Given the description of an element on the screen output the (x, y) to click on. 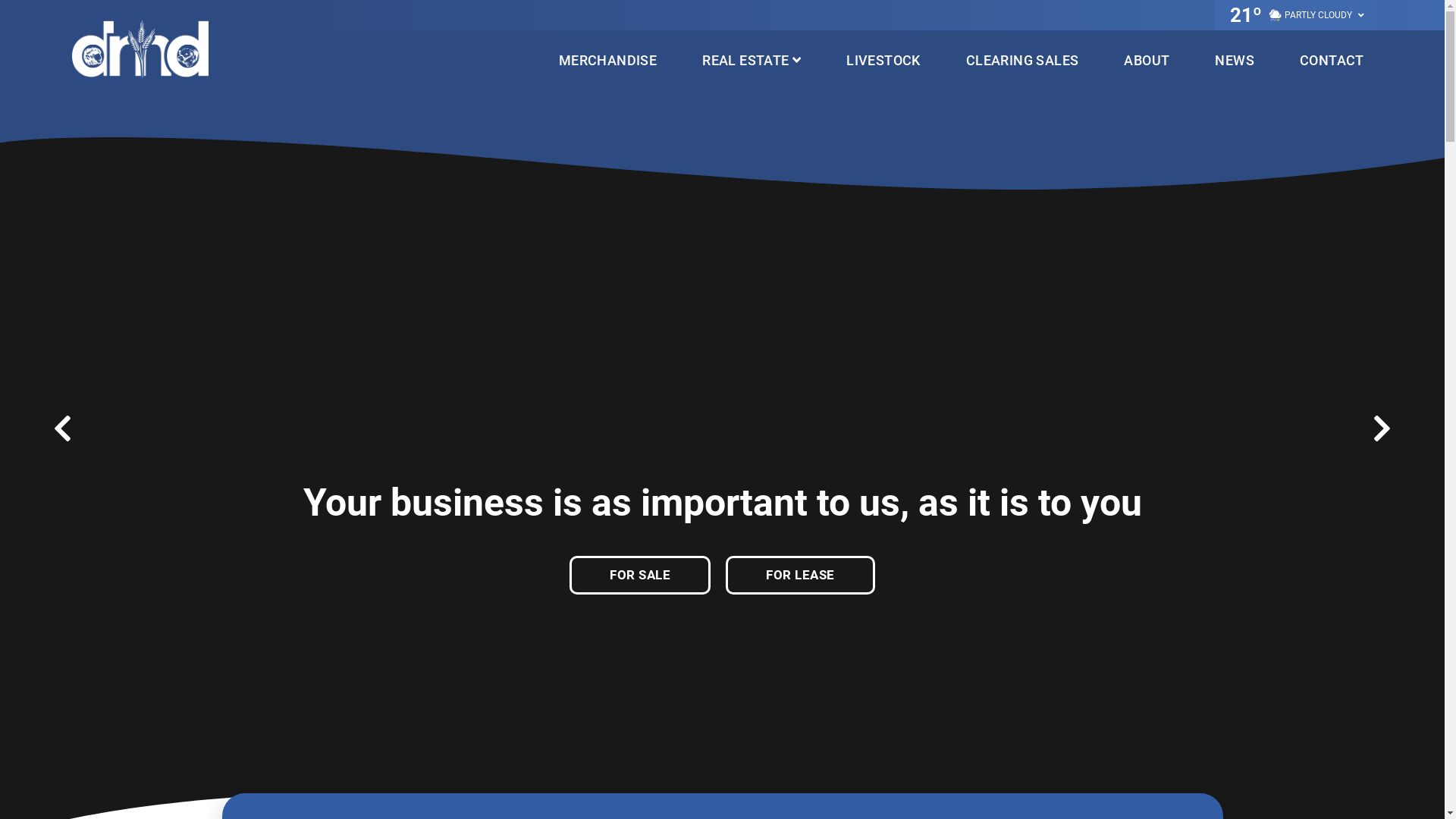
ABOUT Element type: text (1146, 60)
NEWS Element type: text (1234, 60)
MERCHANDISE Element type: text (607, 60)
CONTACT Element type: text (1331, 60)
LIVESTOCK Element type: text (883, 60)
FOR LEASE Element type: text (800, 574)
REAL ESTATE Element type: text (751, 60)
CLEARING SALES Element type: text (1022, 60)
FOR SALE Element type: text (639, 574)
